Given the description of an element on the screen output the (x, y) to click on. 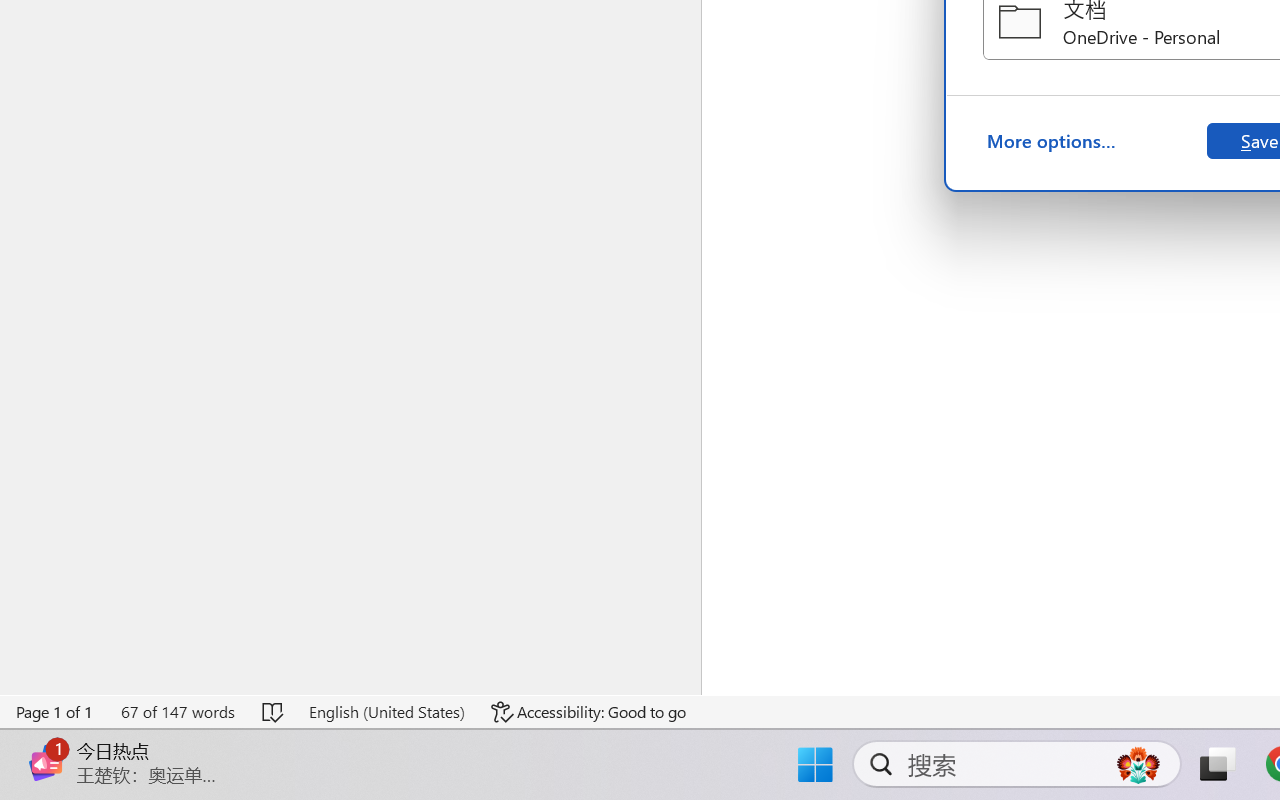
Page Number Page 1 of 1 (55, 712)
